Given the description of an element on the screen output the (x, y) to click on. 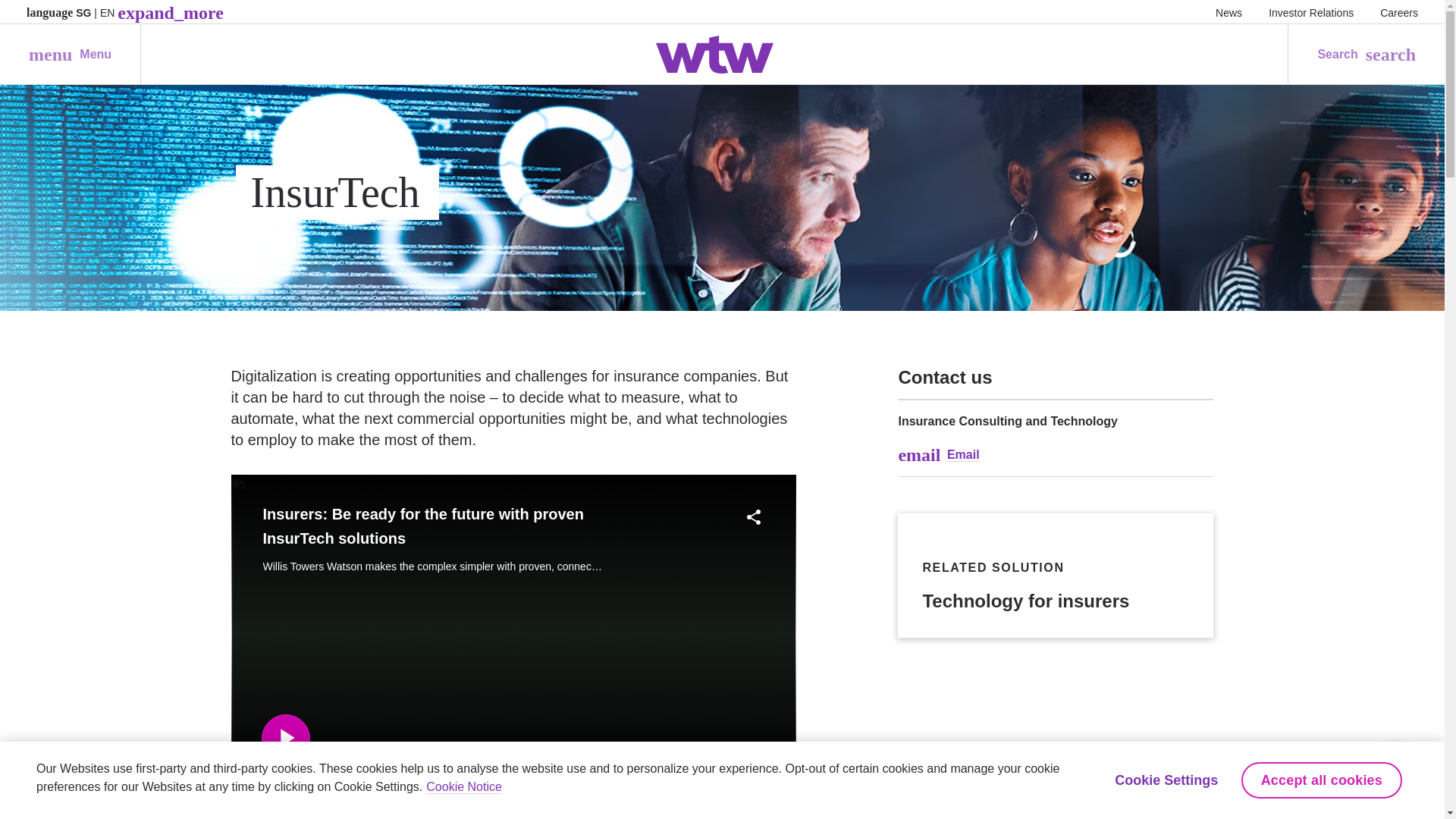
Careers (1399, 12)
Play Video (284, 738)
Investor Relations (1311, 12)
Share (753, 516)
News (69, 54)
